Given the description of an element on the screen output the (x, y) to click on. 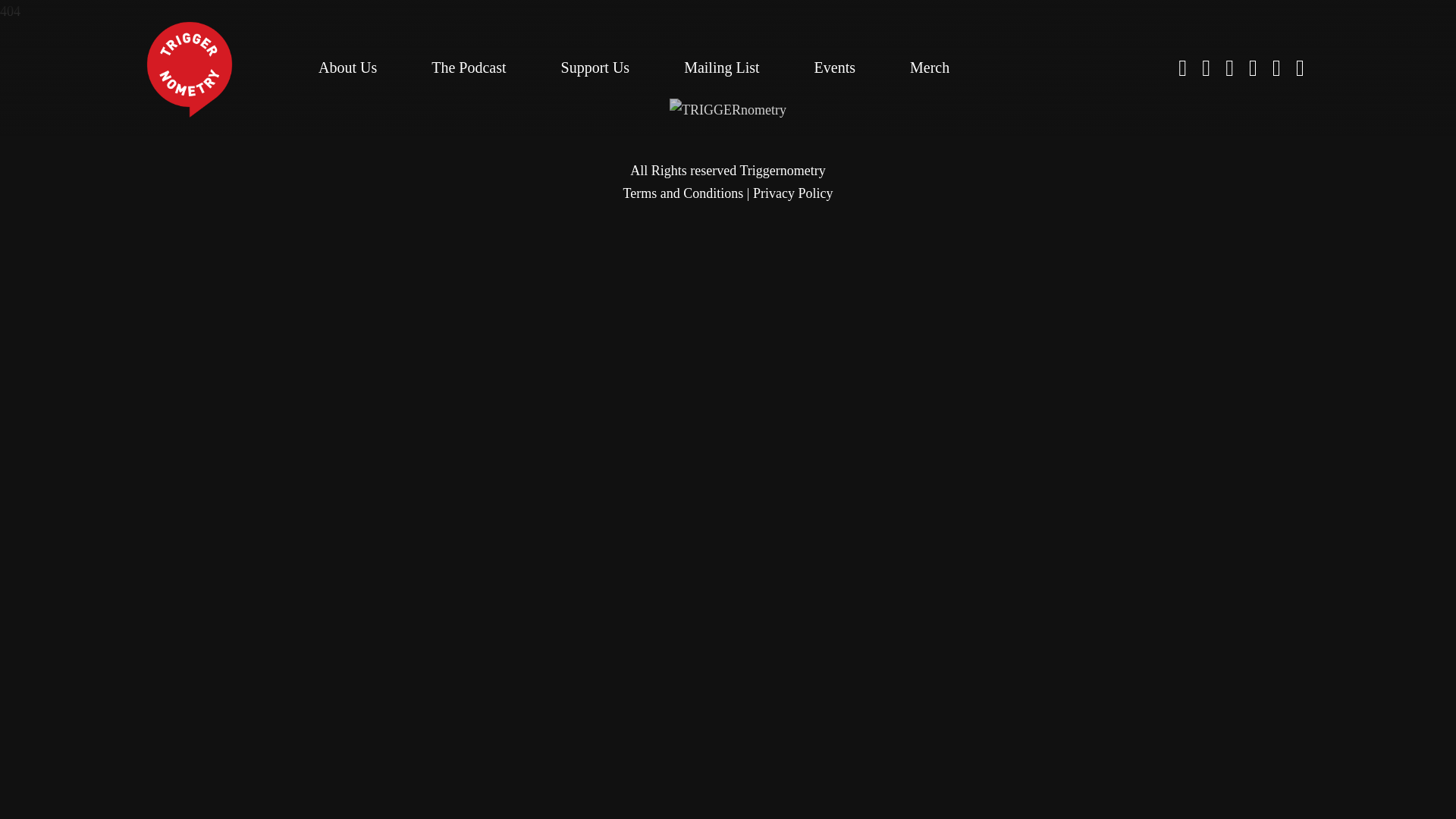
About Us (347, 67)
Privacy Policy (792, 192)
Merch (929, 67)
Terms and Conditions (683, 192)
Support Us (595, 67)
Events (834, 67)
The Podcast (467, 67)
Mailing List (721, 67)
